Given the description of an element on the screen output the (x, y) to click on. 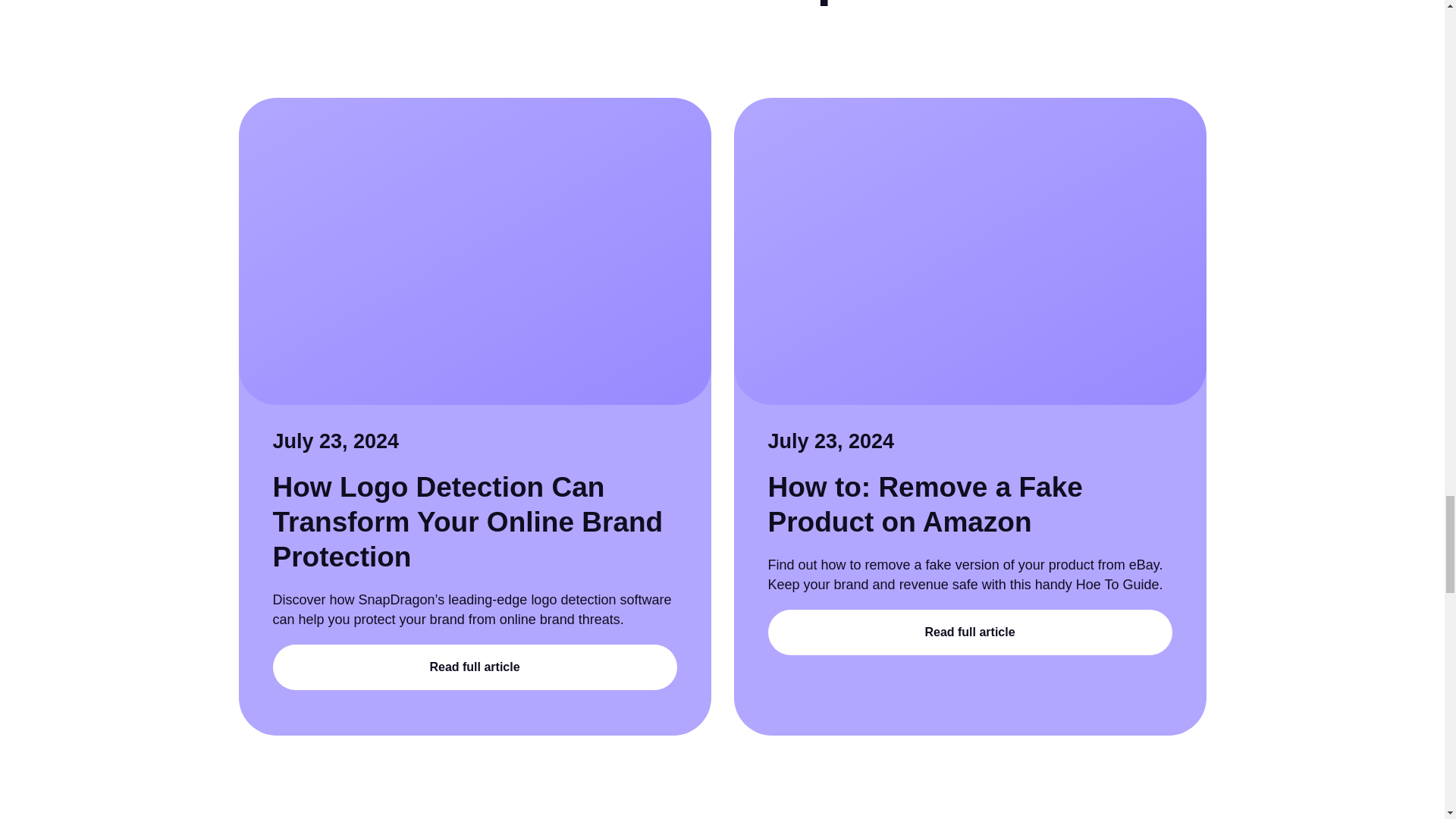
Read full article (969, 632)
How to: Remove a Fake Product on Amazon (924, 504)
Read full article (475, 667)
